Given the description of an element on the screen output the (x, y) to click on. 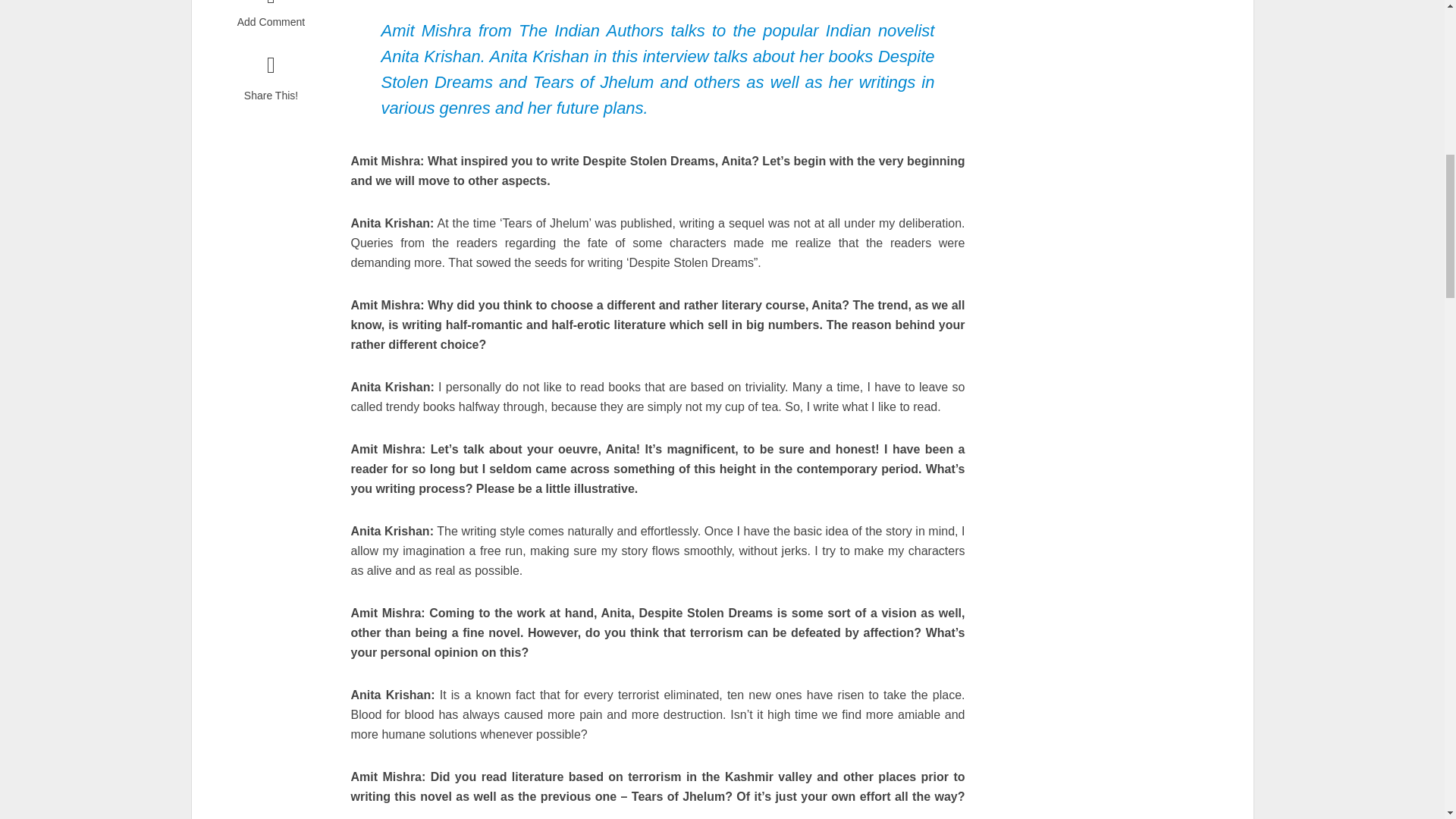
An Interview with Phidalia Toi (287, 48)
Add Comment (270, 15)
